Given the description of an element on the screen output the (x, y) to click on. 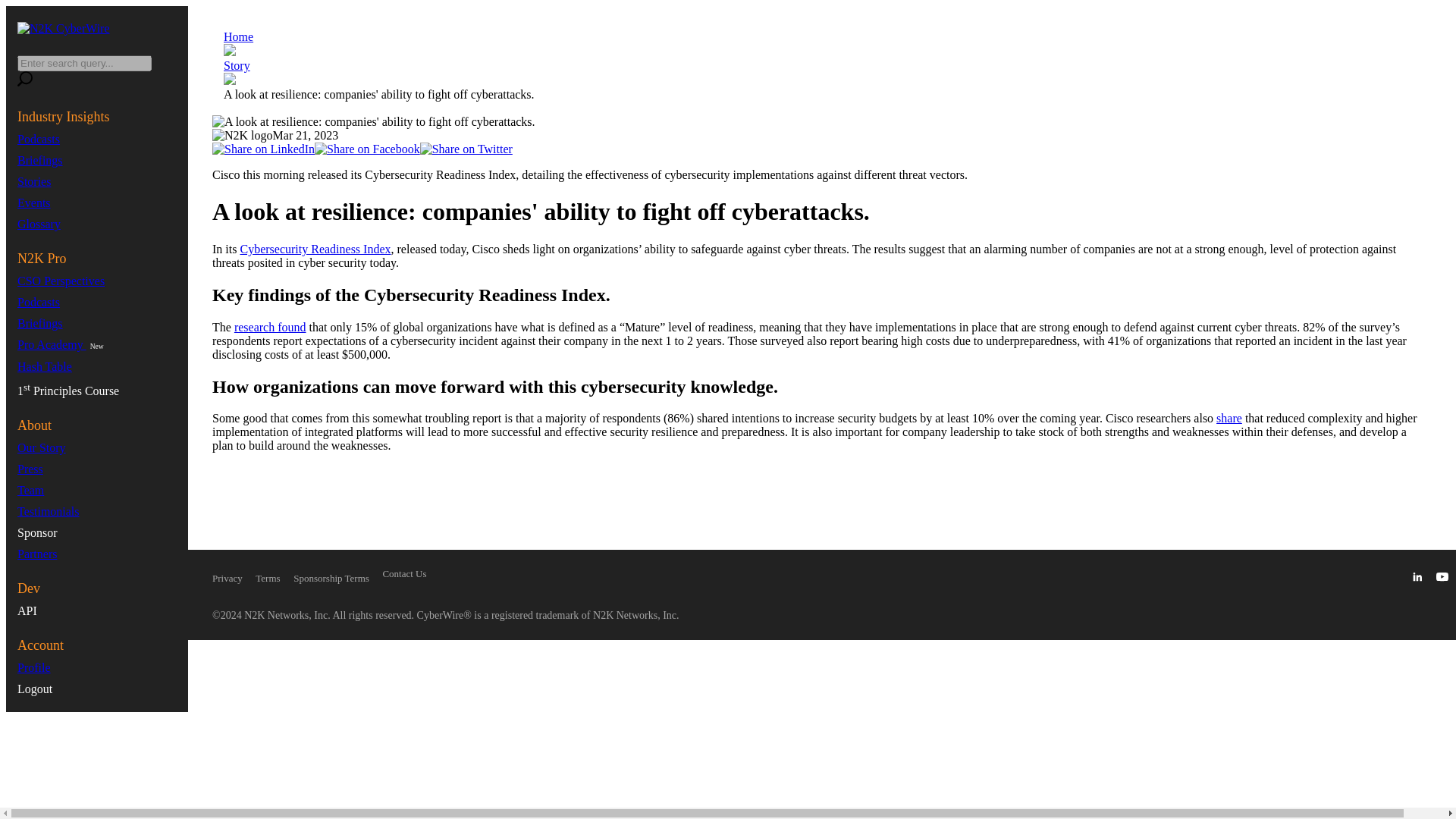
Podcasts (38, 301)
Sponsor (36, 532)
Podcasts (38, 138)
CSO Perspectives (60, 280)
Profile (33, 667)
API (27, 610)
Events (33, 202)
Hash Table (44, 366)
Testimonials (48, 511)
Partners (36, 553)
